Given the description of an element on the screen output the (x, y) to click on. 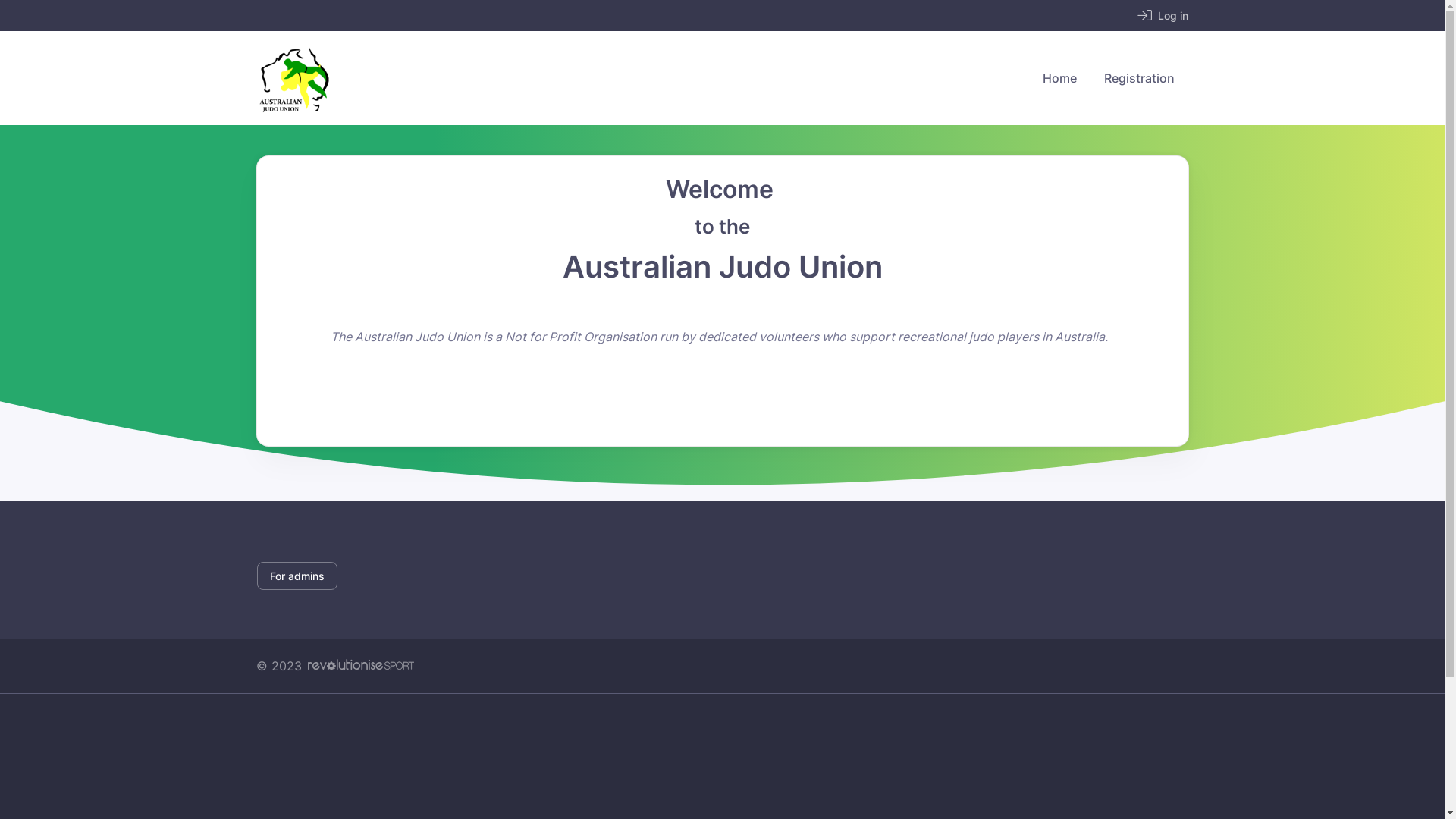
Registration Element type: text (1139, 77)
For admins Element type: text (296, 575)
Home Element type: text (1058, 77)
Log in Element type: text (1162, 15)
